Given the description of an element on the screen output the (x, y) to click on. 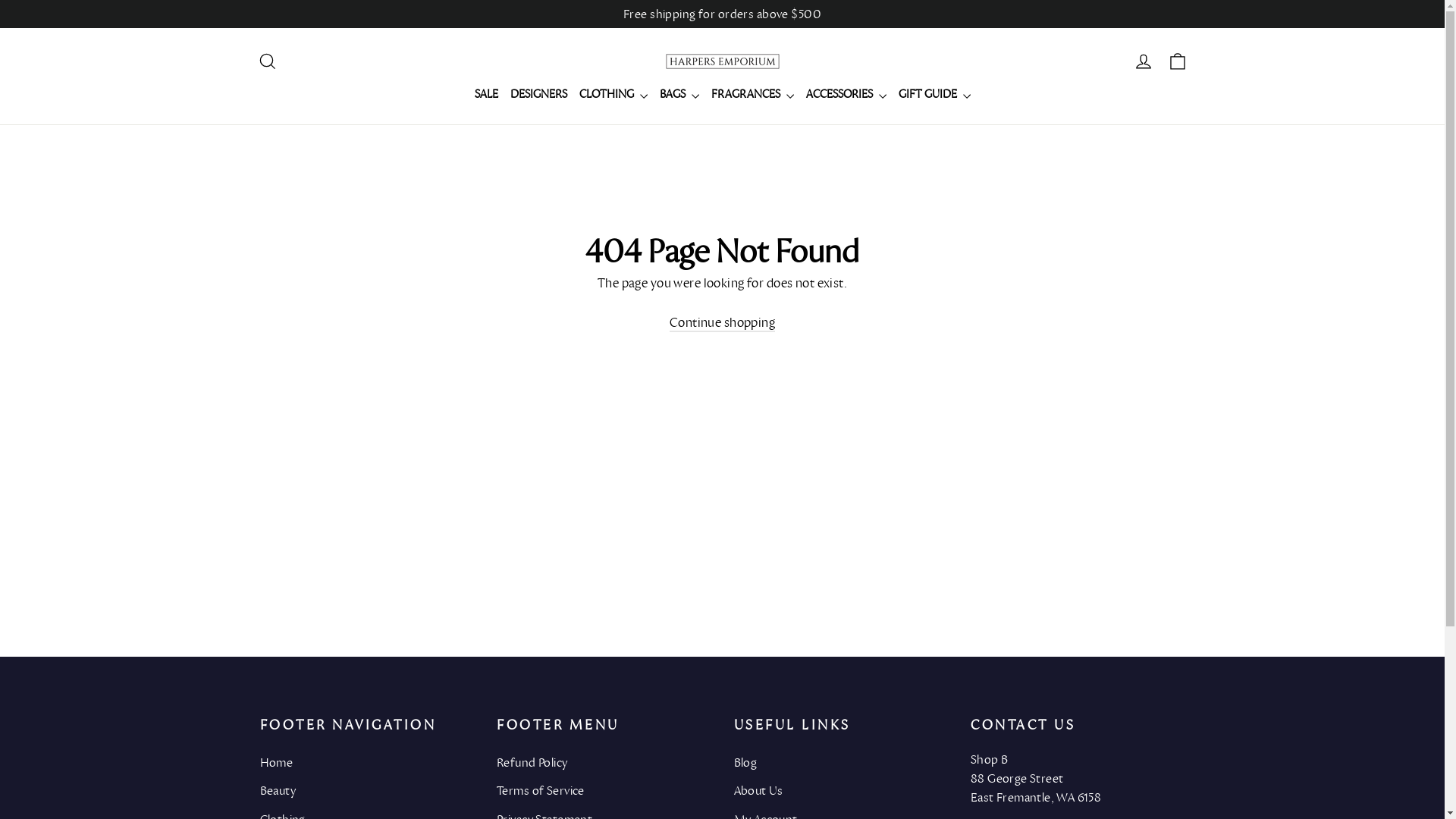
DESIGNERS Element type: text (537, 94)
SALE Element type: text (486, 94)
GIFT GUIDE Element type: text (933, 94)
Continue shopping Element type: text (722, 323)
Blog Element type: text (841, 762)
ACCESSORIES Element type: text (845, 94)
CLOTHING Element type: text (613, 94)
Search Element type: text (266, 61)
Refund Policy Element type: text (603, 762)
Terms of Service Element type: text (603, 790)
FRAGRANCES Element type: text (752, 94)
Home Element type: text (366, 762)
Cart Element type: text (1176, 61)
Skip to content Element type: text (0, 0)
BAGS Element type: text (679, 94)
Beauty Element type: text (366, 790)
About Us Element type: text (841, 790)
Log in Element type: text (1143, 61)
